Given the description of an element on the screen output the (x, y) to click on. 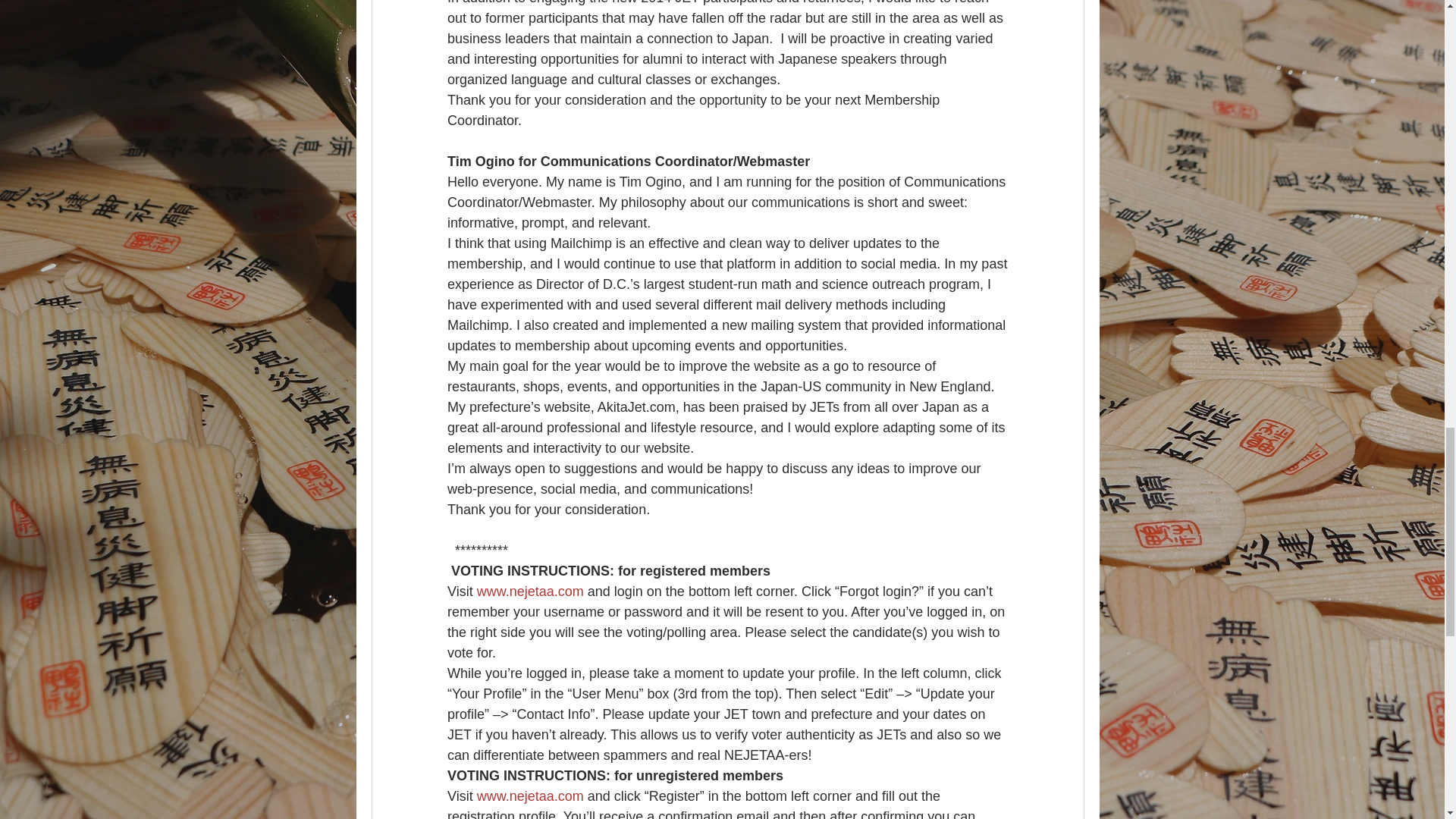
www.nejetaa.com (529, 795)
www.nejetaa.com (529, 590)
